Given the description of an element on the screen output the (x, y) to click on. 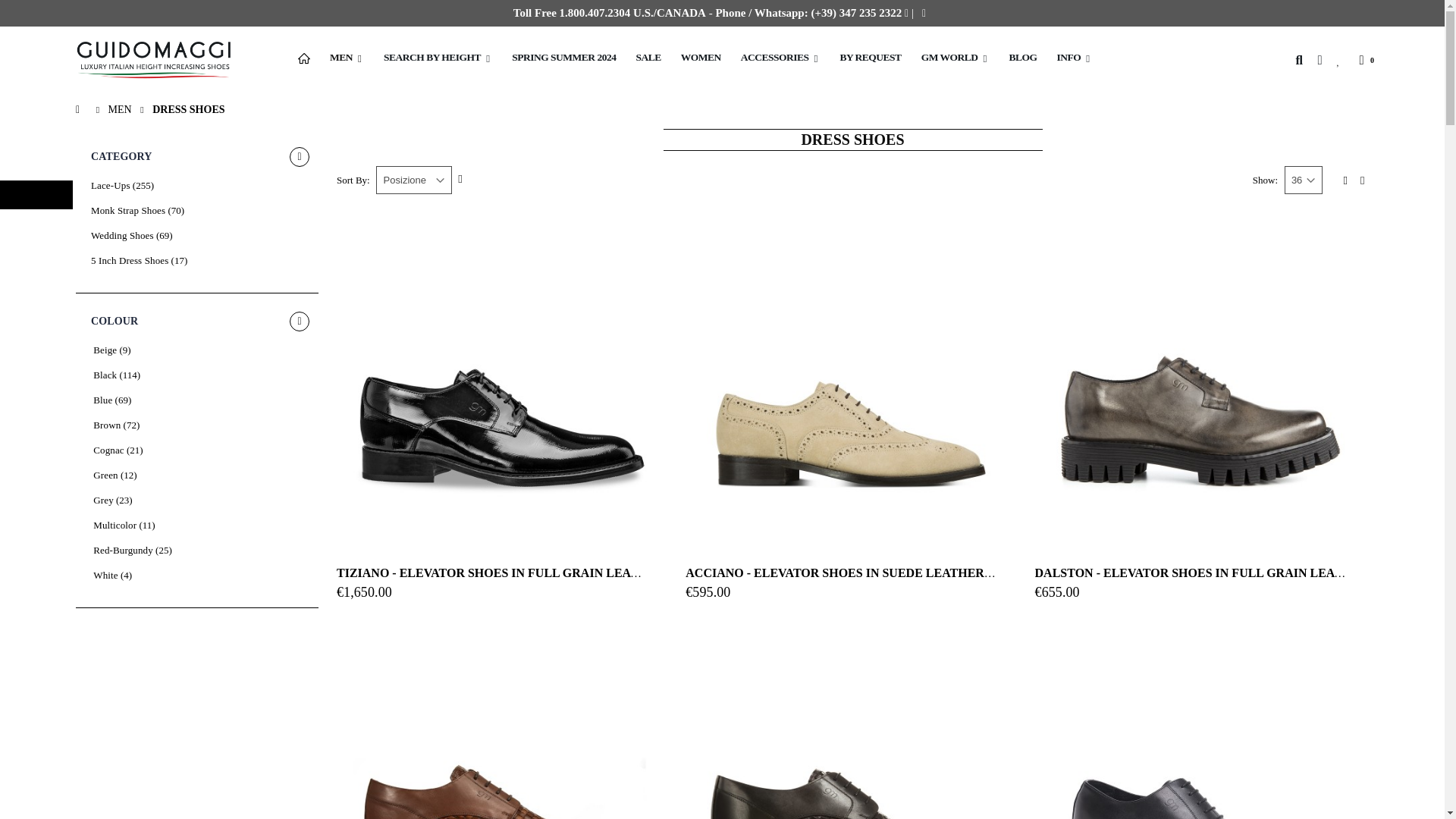
SEARCH BY HEIGHT (437, 59)
List (1359, 182)
Set Descending Direction (459, 178)
SALE (647, 59)
GM WORLD (955, 59)
Height increasing shoes (502, 375)
ACCESSORIES (780, 59)
BY REQUEST (869, 59)
contact us (924, 12)
